Given the description of an element on the screen output the (x, y) to click on. 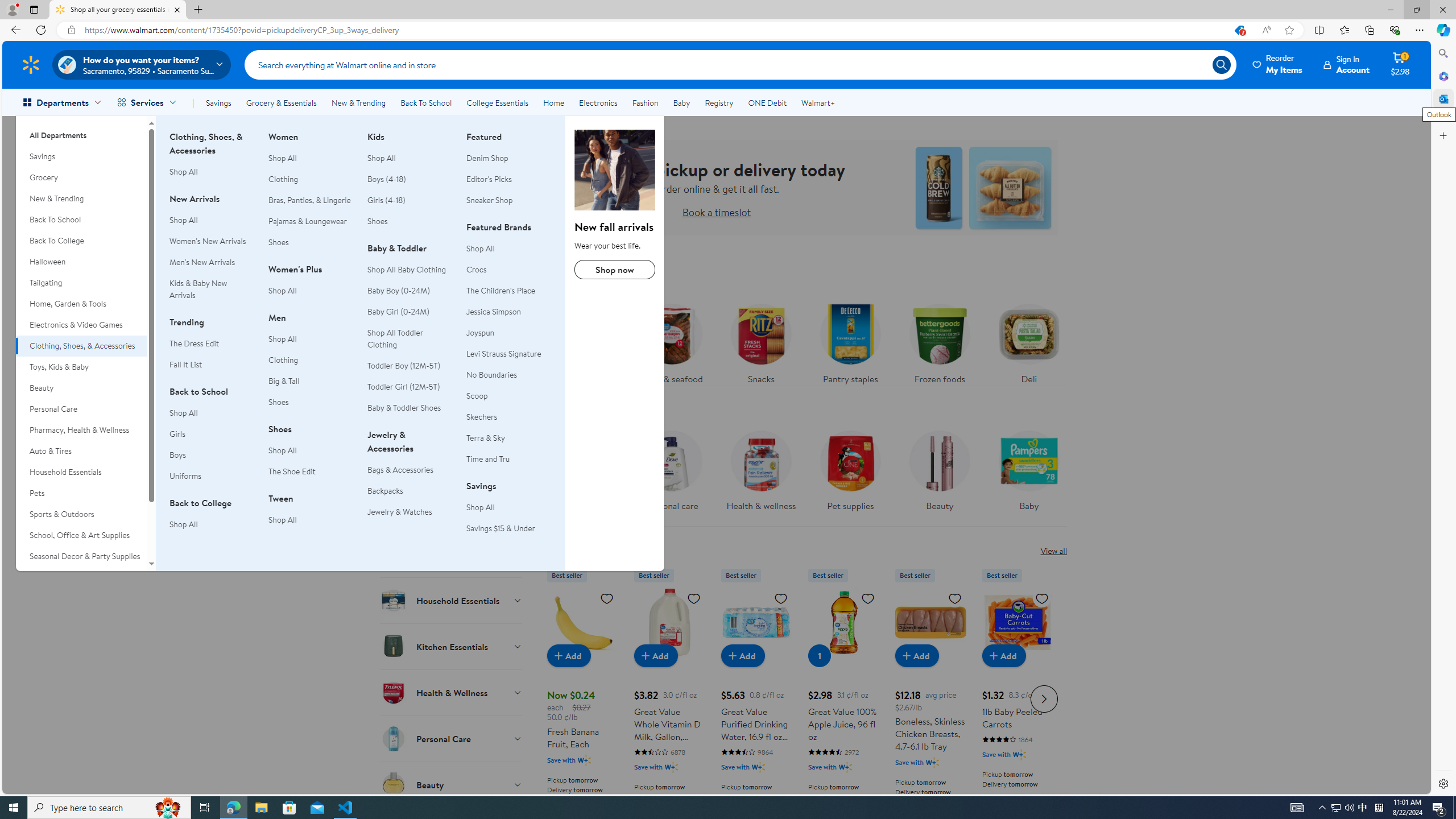
Scoop (508, 395)
Denim Shop (508, 158)
Terra & Sky (508, 437)
Registry (718, 102)
Back to CollegeShop All (211, 520)
Toys, Kids & Baby (81, 366)
The Dress Edit (211, 343)
Pets (81, 493)
Meat & seafood (671, 340)
Editor's Picks (508, 179)
Girls (4-18) (409, 200)
Sneaker Shop (508, 200)
